Given the description of an element on the screen output the (x, y) to click on. 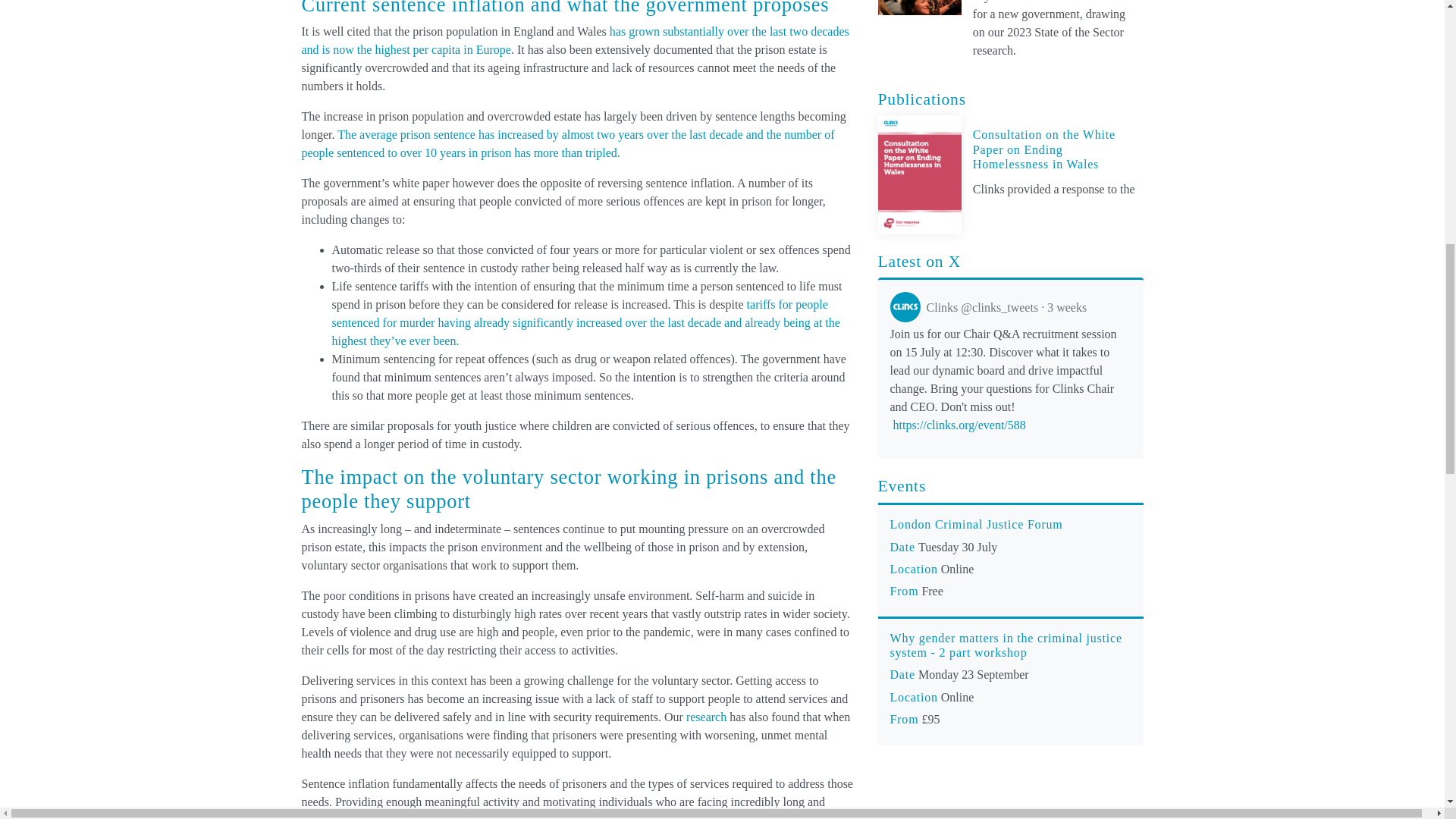
Clinks Tweets (988, 307)
research (705, 716)
